Given the description of an element on the screen output the (x, y) to click on. 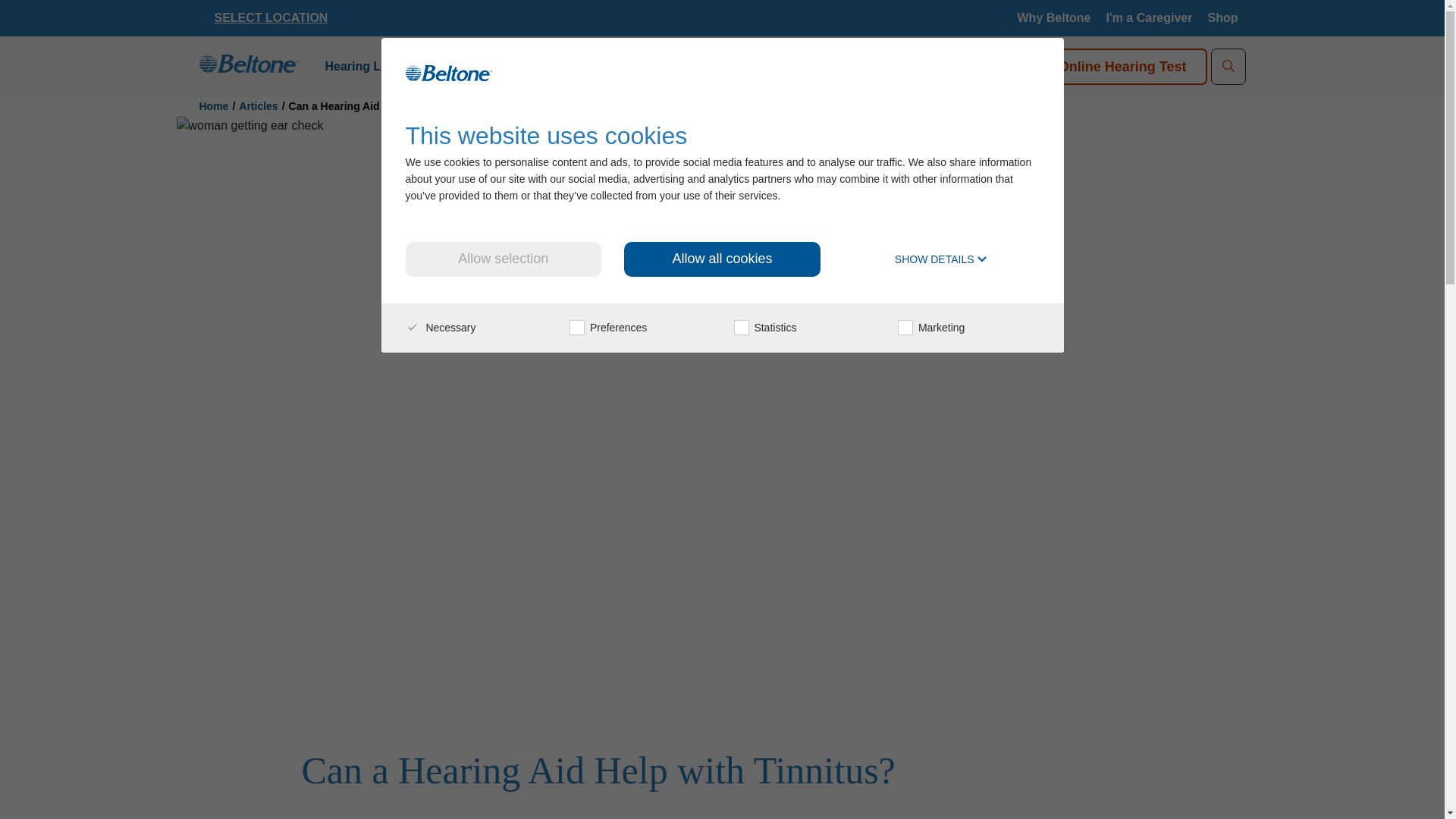
Blog (600, 66)
Products (534, 66)
Allow selection (502, 258)
I'm a Caregiver (1148, 17)
Hearing Loss (368, 66)
SHOW DETAILS (941, 259)
Services (458, 66)
Why Beltone (1053, 17)
SHOW DETAILS (941, 259)
Allow all cookies (722, 258)
Shop (1222, 17)
SELECT LOCATION (270, 17)
